Given the description of an element on the screen output the (x, y) to click on. 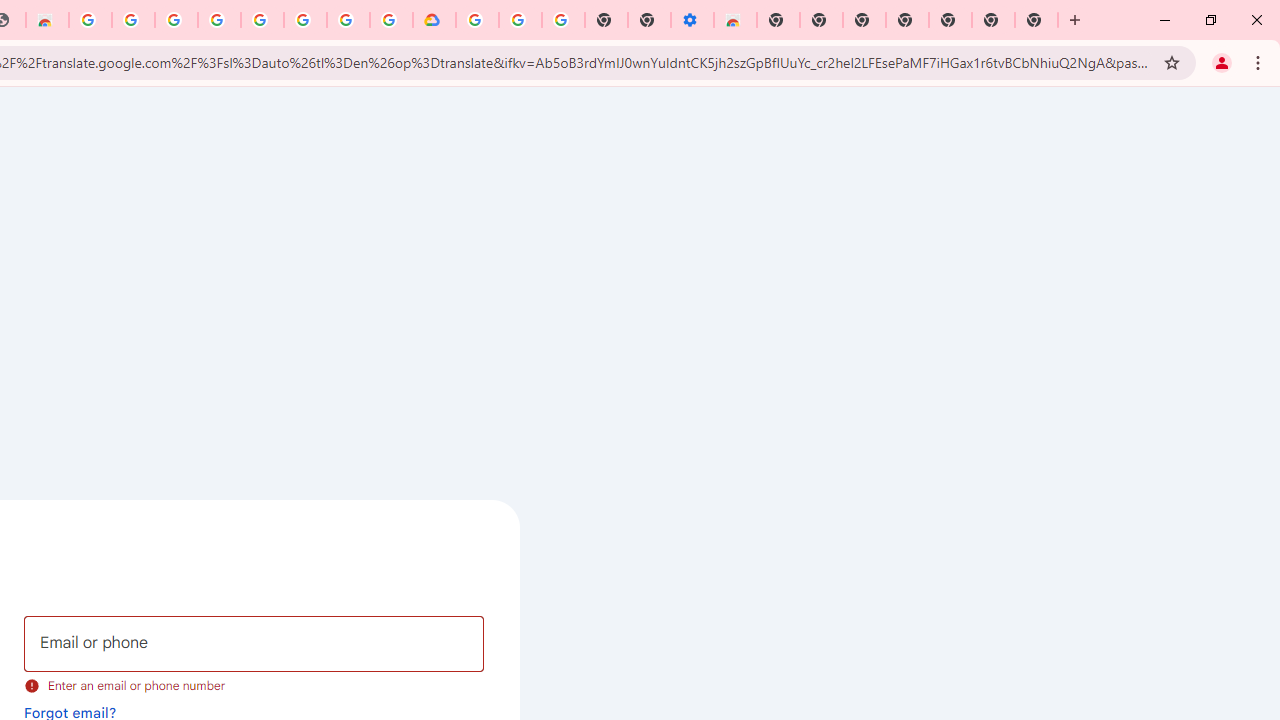
Ad Settings (132, 20)
Settings - Accessibility (692, 20)
New Tab (1036, 20)
Chrome Web Store - Household (47, 20)
